Given the description of an element on the screen output the (x, y) to click on. 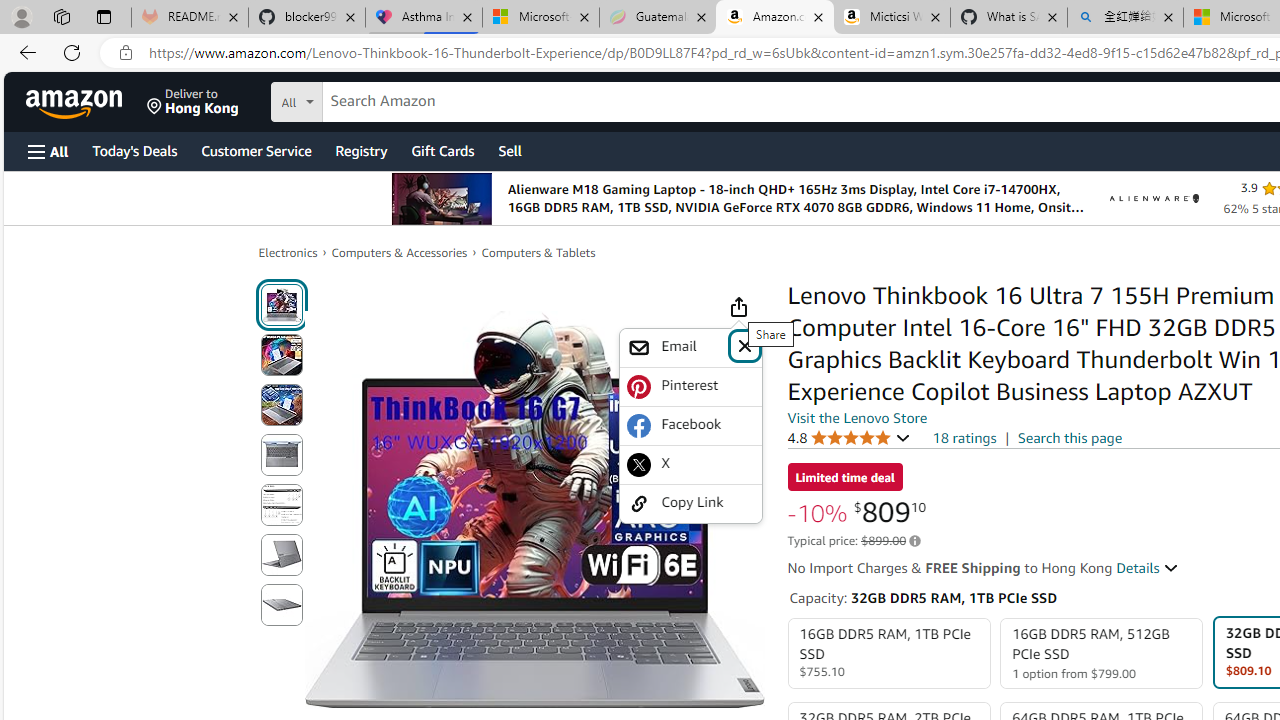
Computers & Tablets (538, 252)
16GB DDR5 RAM, 512GB PCIe SSD 1 option from $799.00 (1101, 653)
Open Menu (48, 151)
Computers & Accessories (399, 252)
Registry (360, 150)
Copy Link (690, 503)
